Given the description of an element on the screen output the (x, y) to click on. 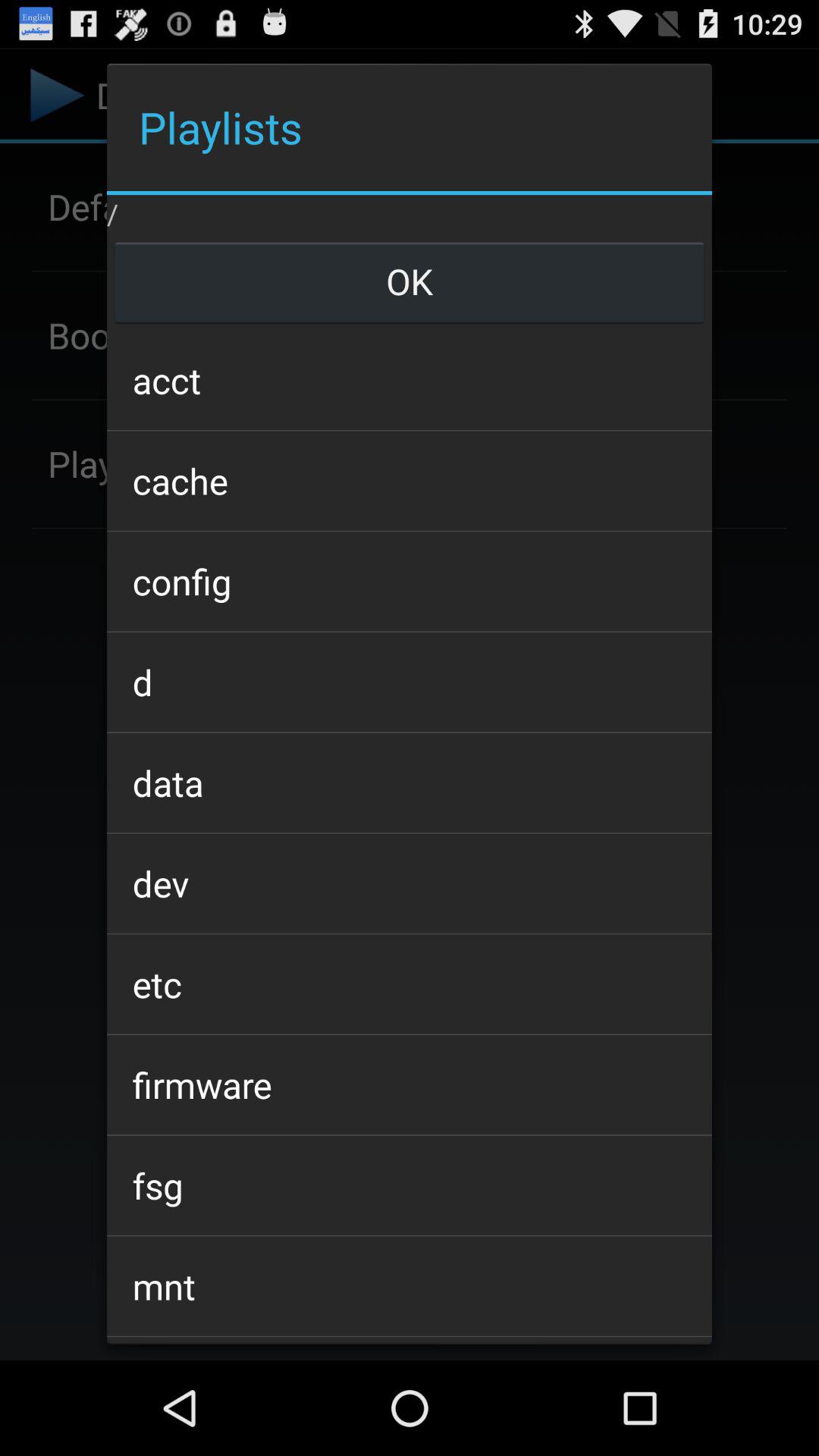
turn off app below the data app (409, 883)
